Given the description of an element on the screen output the (x, y) to click on. 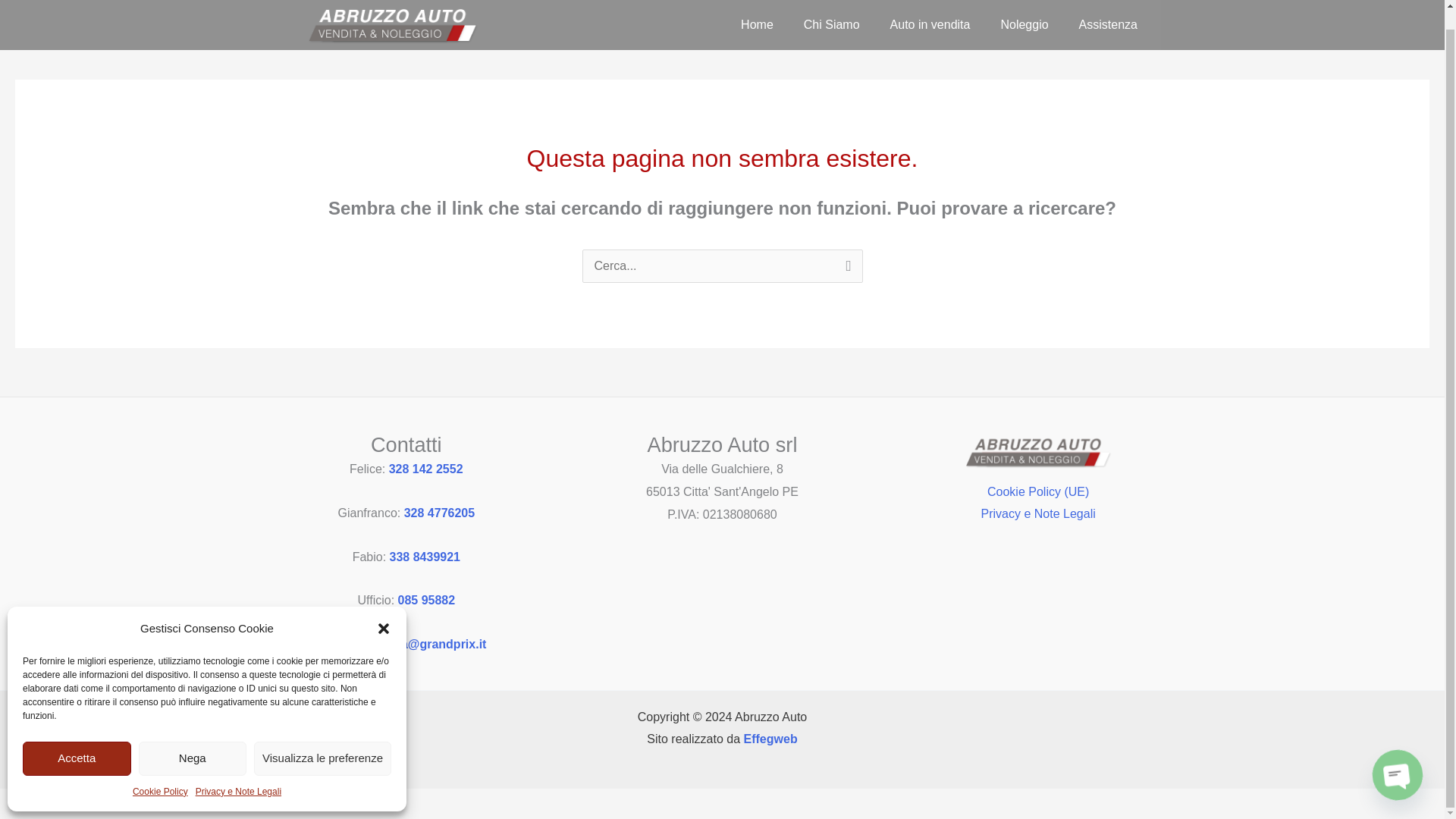
Noleggio (1023, 11)
Home (757, 11)
Visualizza le preferenze (322, 739)
Nega (192, 739)
Privacy e Note Legali (238, 772)
Assistenza (1108, 11)
085 95882 (426, 599)
338 8439921 (425, 556)
328 142 2552 (425, 468)
Cookie Policy (159, 772)
Auto in vendita (930, 11)
Chi Siamo (832, 11)
328 4776205 (439, 512)
Accetta (77, 739)
